Given the description of an element on the screen output the (x, y) to click on. 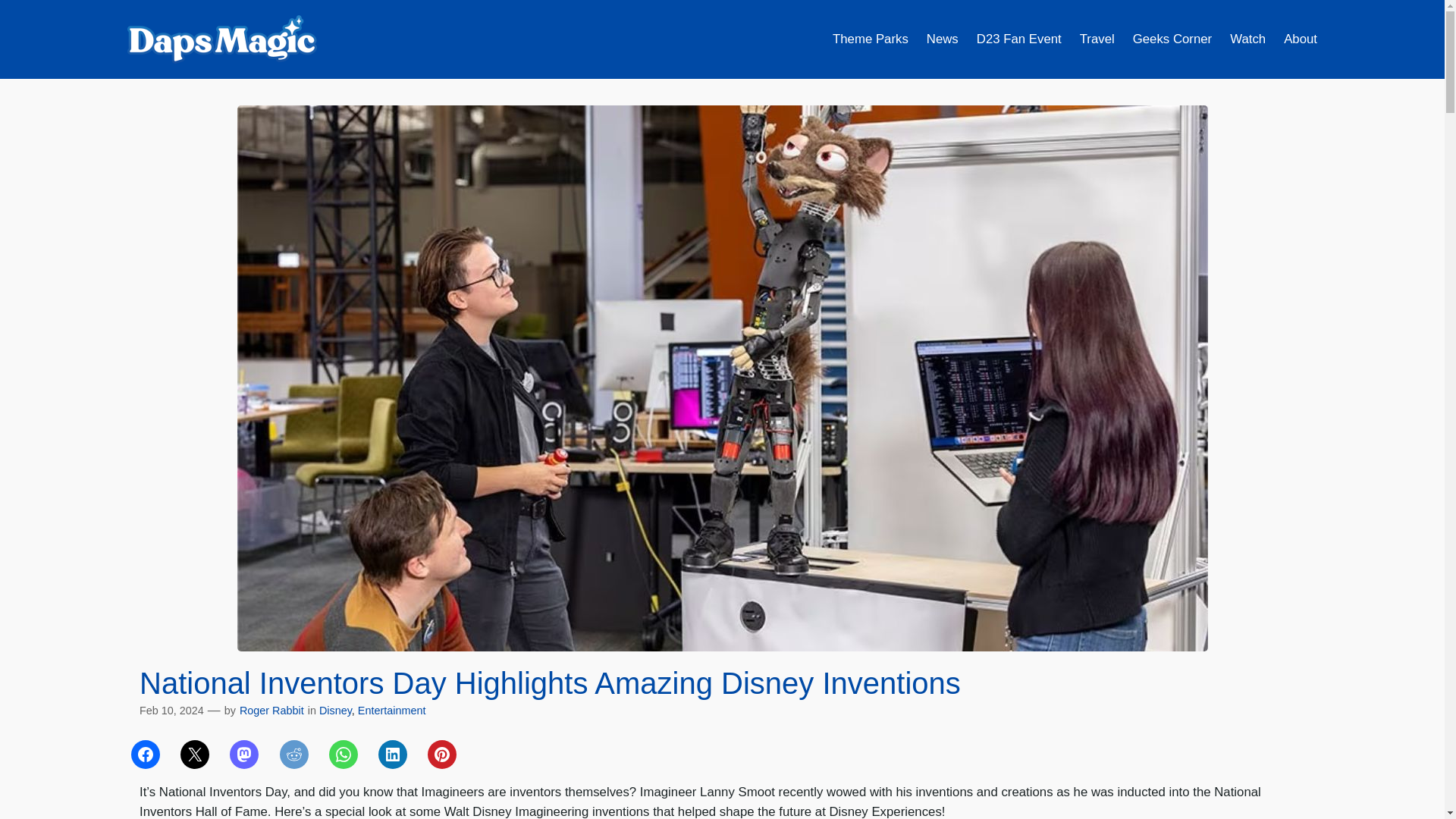
Entertainment (392, 710)
News (942, 39)
About (1300, 39)
Theme Parks (870, 39)
Feb 10, 2024 (171, 710)
Geeks Corner (1171, 39)
Travel (1097, 39)
Roger Rabbit (272, 710)
Disney (335, 710)
Watch (1247, 39)
D23 Fan Event (1018, 39)
